Given the description of an element on the screen output the (x, y) to click on. 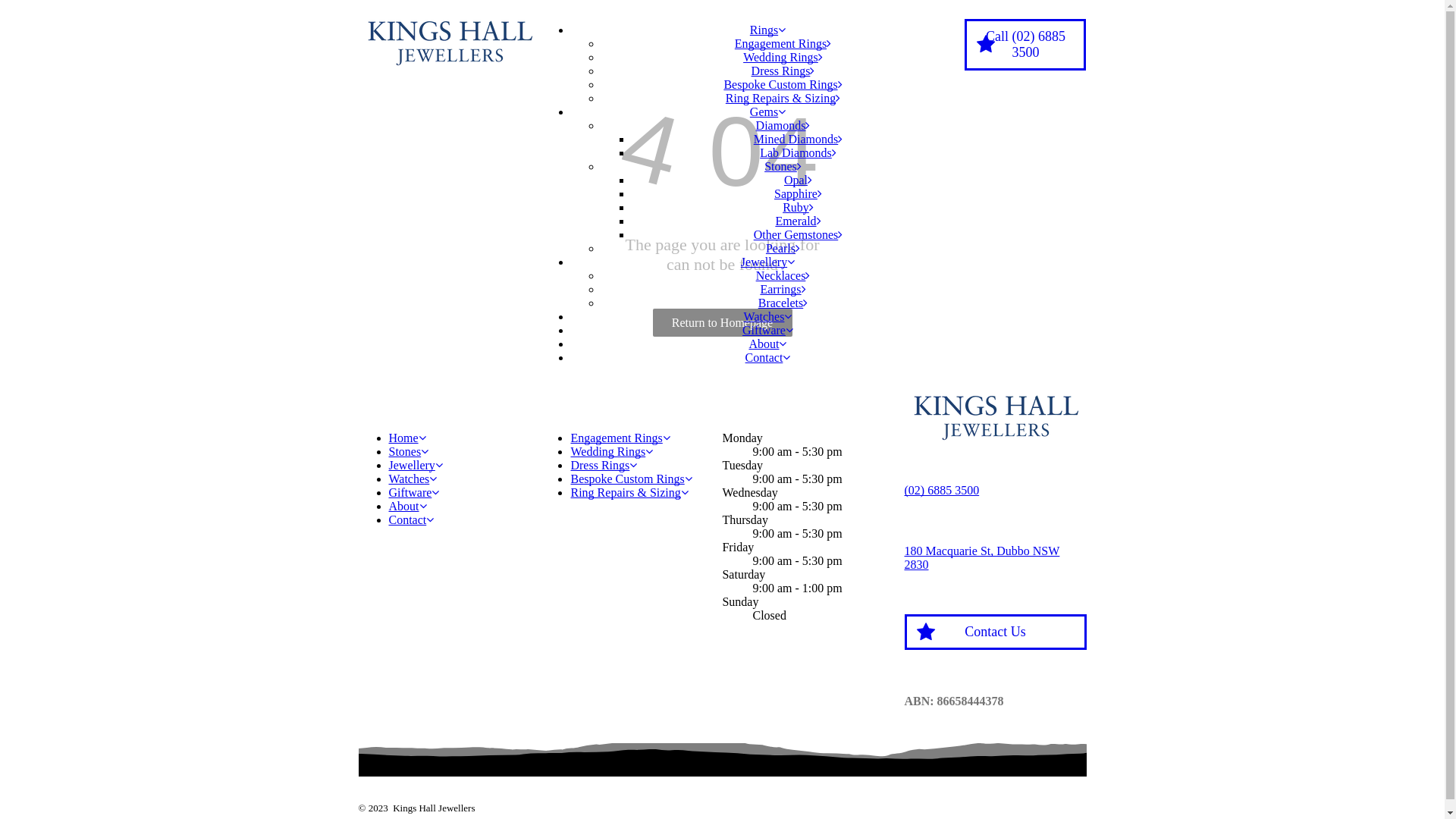
Bespoke Custom Rings Element type: text (630, 478)
Dress Rings Element type: text (783, 70)
Jewellery Element type: text (767, 261)
Necklaces Element type: text (783, 275)
Wedding Rings Element type: text (782, 56)
Jewellery Element type: text (415, 464)
Wedding Rings Element type: text (611, 451)
Ring Repairs & Sizing Element type: text (628, 492)
Opal Element type: text (798, 179)
Kings Hall Jewellers: Trusted Local Jewellers in Dubbo Element type: hover (448, 41)
Dress Rings Element type: text (603, 464)
(02) 6885 3500 Element type: text (941, 489)
Contact Element type: text (767, 357)
About Element type: text (407, 505)
Rings Element type: text (767, 29)
Stones Element type: text (408, 451)
Contact Element type: text (410, 519)
Engagement Rings Element type: text (619, 437)
Call (02) 6885 3500 Element type: text (1024, 44)
Lab Diamonds Element type: text (797, 152)
Engagement Rings Element type: text (782, 43)
Ring Repairs & Sizing Element type: text (782, 97)
Diamonds Element type: text (783, 125)
Bracelets Element type: text (783, 302)
Watches Element type: text (767, 316)
Gems Element type: text (767, 111)
Home Element type: text (406, 437)
Contact Us Element type: text (994, 631)
Other Gemstones Element type: text (798, 234)
Earrings Element type: text (782, 288)
Stones Element type: text (782, 166)
Giftware Element type: text (767, 329)
Emerald Element type: text (797, 220)
180 Macquarie St, Dubbo NSW 2830 Element type: text (981, 557)
Sapphire Element type: text (798, 193)
Ruby Element type: text (797, 206)
Pearls Element type: text (782, 247)
Bespoke Custom Rings Element type: text (782, 84)
About Element type: text (767, 343)
Return to Homepage Element type: text (721, 322)
Giftware Element type: text (413, 492)
Mined Diamonds Element type: text (798, 138)
Watches Element type: text (412, 478)
